Given the description of an element on the screen output the (x, y) to click on. 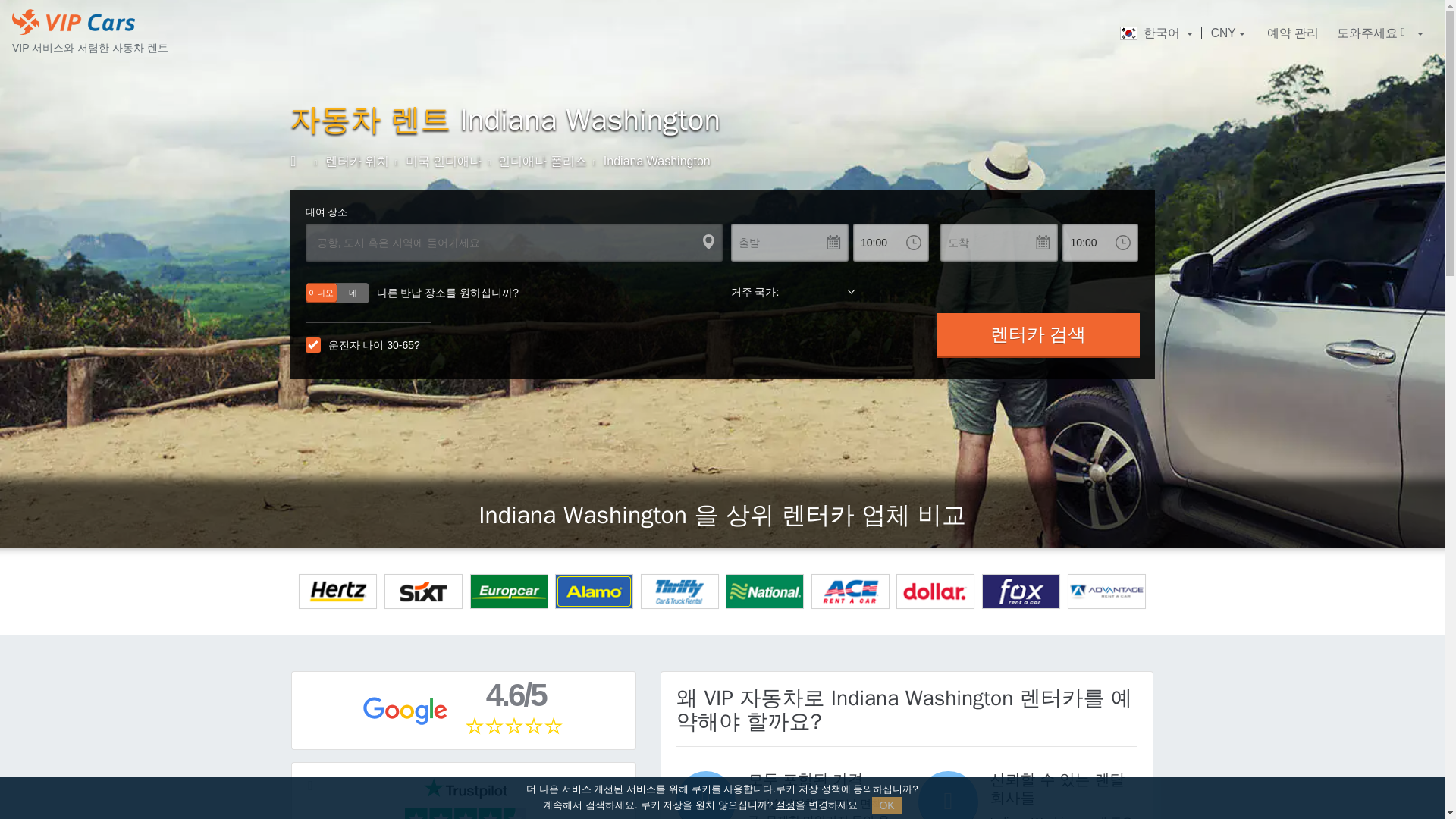
Dollar (935, 591)
Fox Rent a Car (1020, 591)
EuropCar (509, 591)
VIP Cars (73, 22)
Hertz (337, 591)
VIPCars (299, 161)
VIPCars.com (299, 161)
Advantage Rent a Car (1106, 591)
Ace (849, 591)
Thrifty (679, 591)
Alamo (593, 591)
Customer reviews powered by Trustpilot (464, 798)
CNY (1228, 33)
National (764, 591)
Review VIP Cars on Google (462, 709)
